Given the description of an element on the screen output the (x, y) to click on. 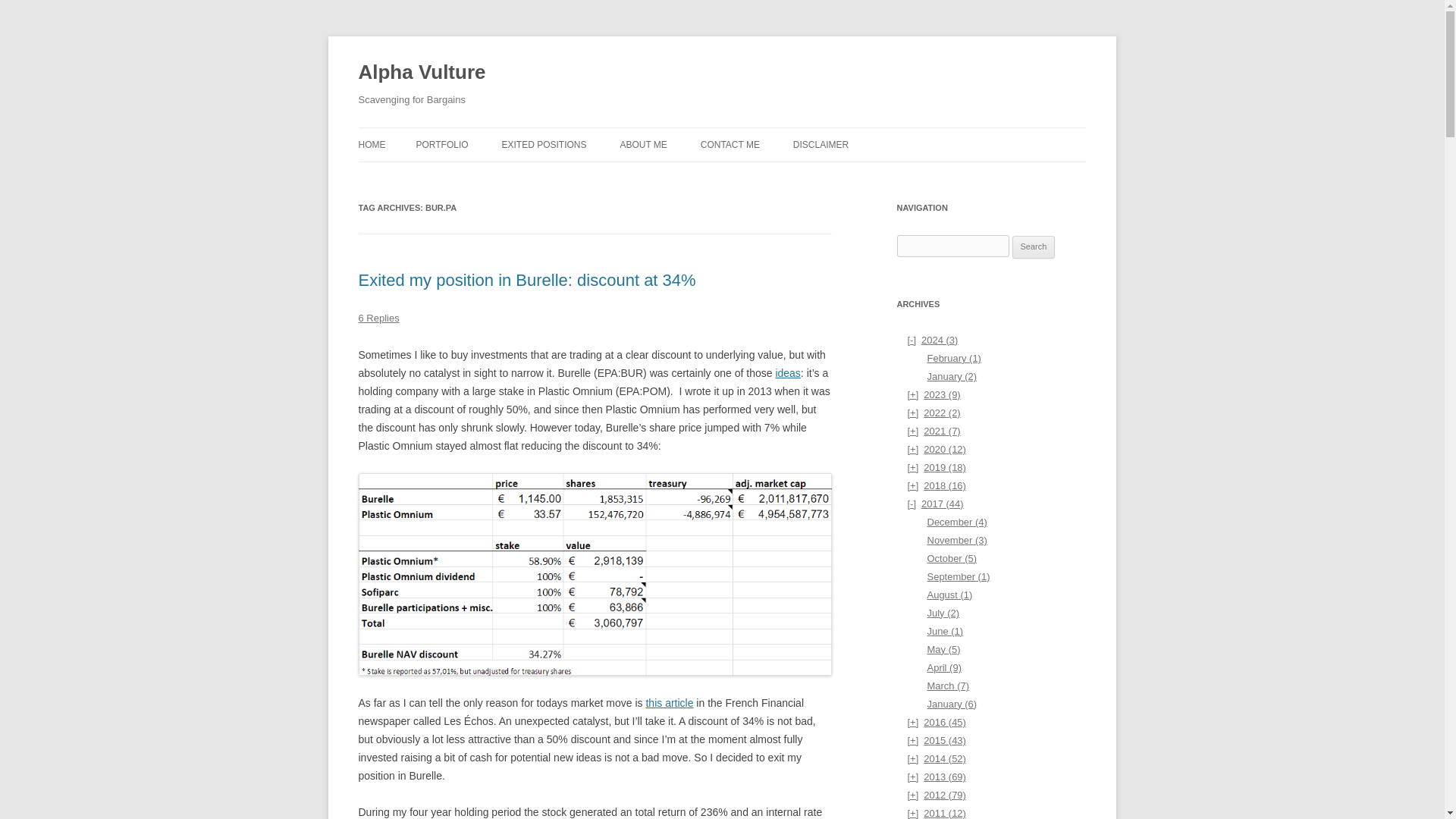
Search (1033, 246)
6 Replies (378, 317)
DISCLAIMER (820, 144)
2024 (932, 339)
CONTACT ME (730, 144)
January (951, 376)
Search (1033, 246)
EXITED POSITIONS (543, 144)
Alpha Vulture (421, 72)
this article (669, 702)
ideas (786, 372)
2023 (933, 394)
PORTFOLIO (440, 144)
February (952, 357)
